Given the description of an element on the screen output the (x, y) to click on. 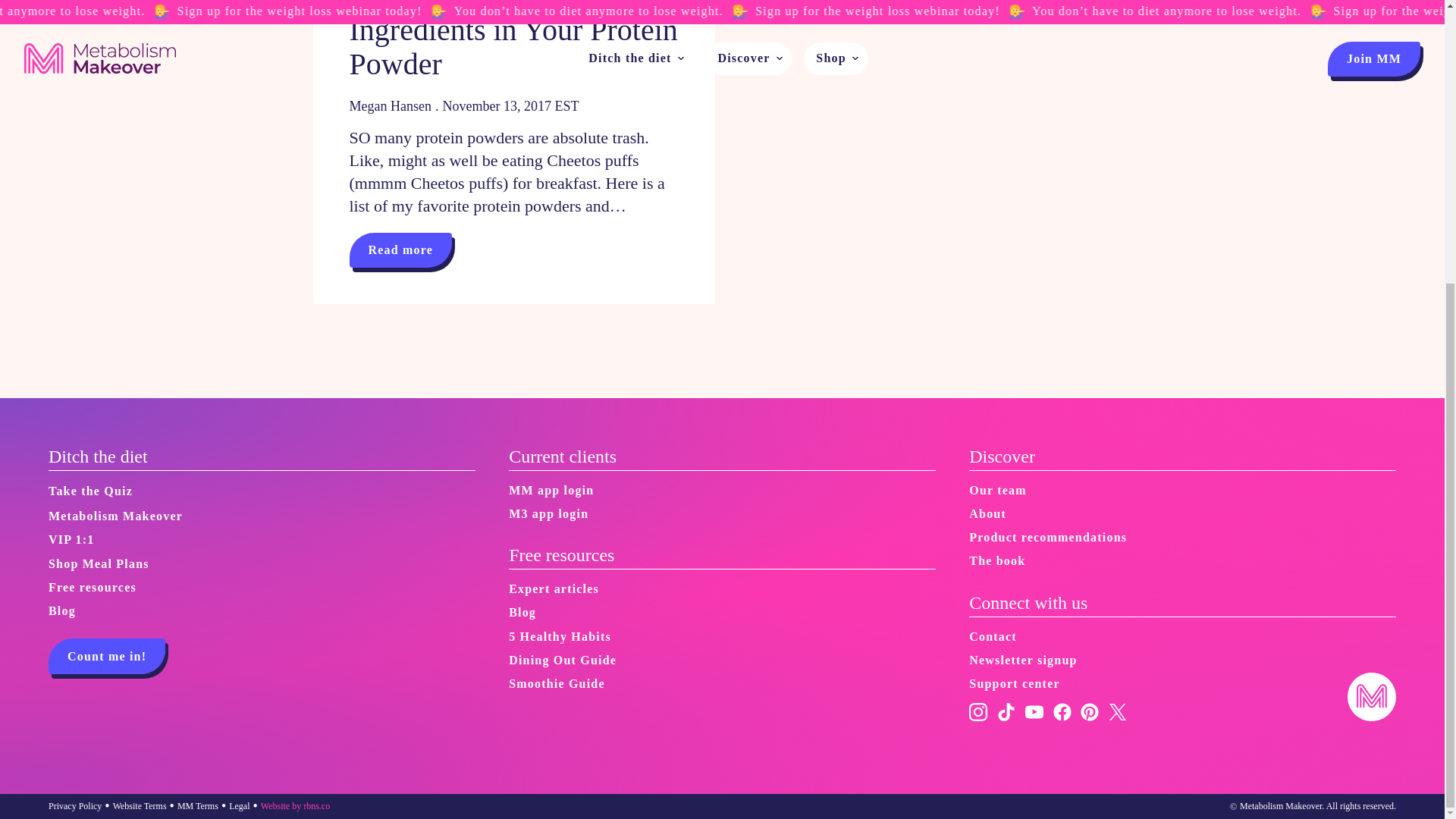
Shop Meal Plans (98, 563)
5 Healthy Habits (559, 636)
About (987, 513)
Free resources (92, 586)
MM app login (551, 490)
Expert articles (553, 588)
Dining Out Guide (561, 659)
Blog (61, 610)
Take the Quiz (90, 491)
Our team (997, 490)
Blog (521, 612)
VIP 1:1 (71, 539)
Count me in! (106, 656)
8 Totally Sketch Ingredients in Your Protein Powder (513, 40)
Smoothie Guide (556, 683)
